Given the description of an element on the screen output the (x, y) to click on. 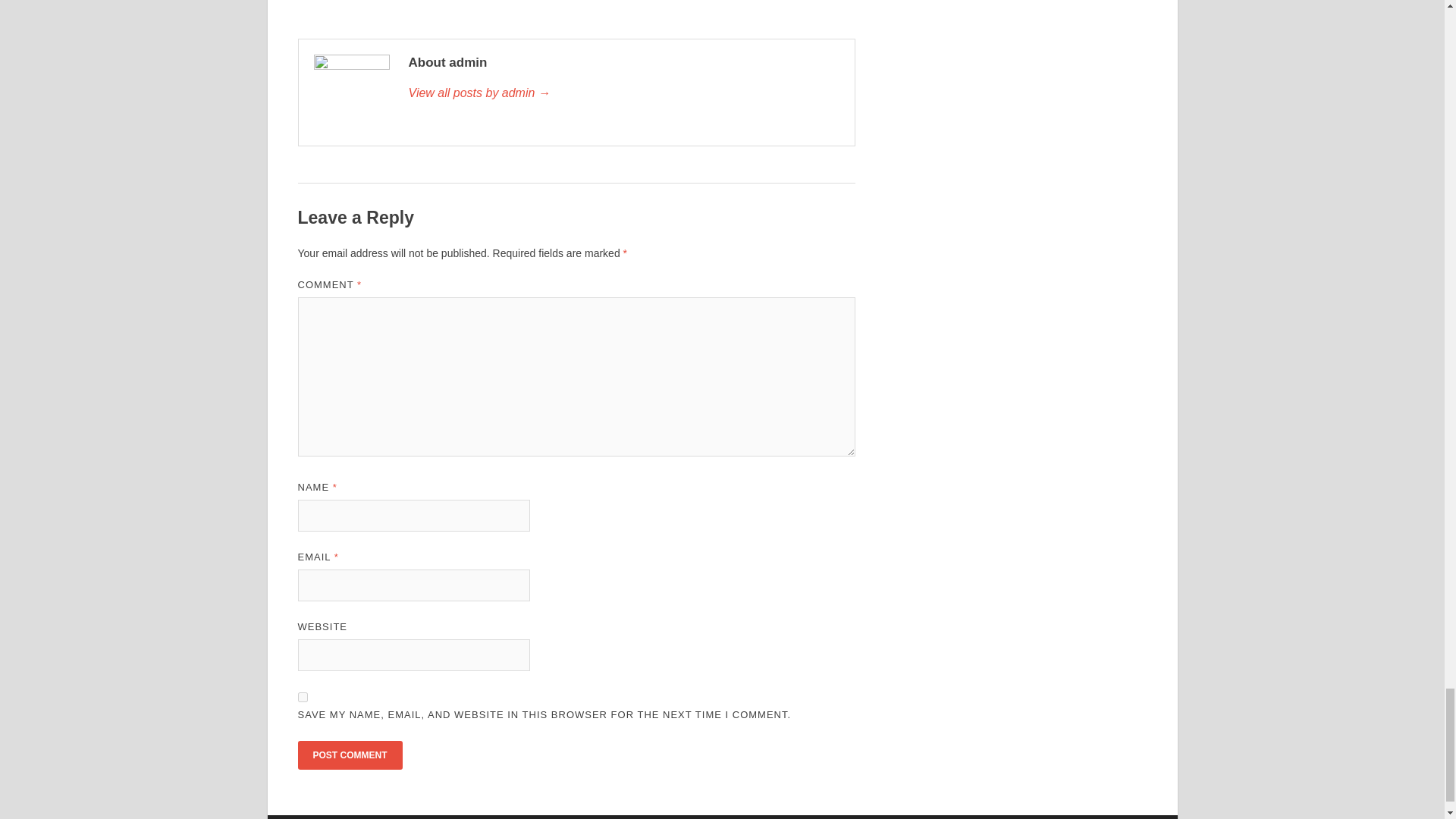
admin (622, 93)
Post Comment (349, 755)
yes (302, 696)
